Given the description of an element on the screen output the (x, y) to click on. 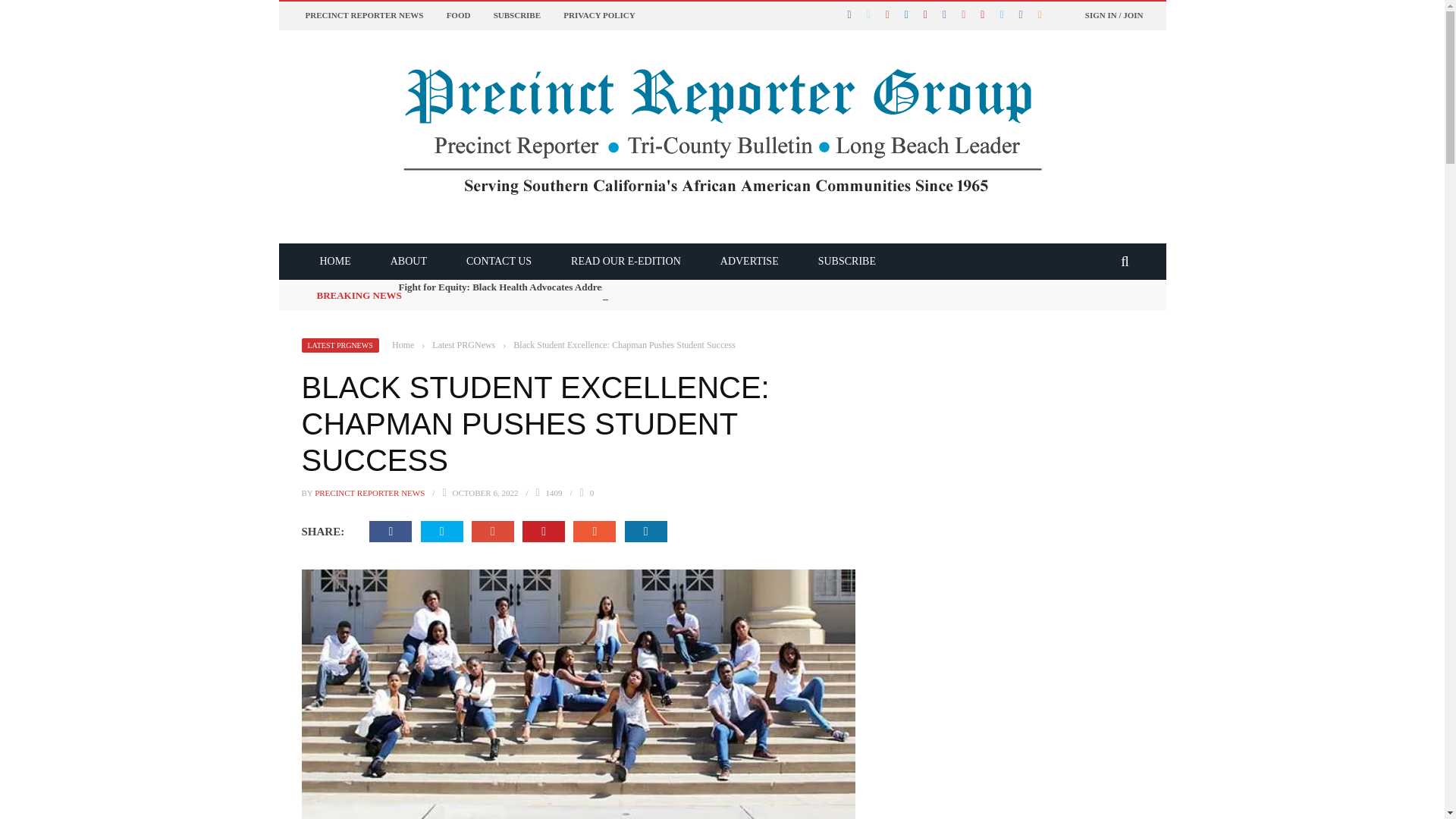
PRIVACY POLICY (598, 14)
SUBSCRIBE (516, 14)
HOME (335, 260)
CONTACT US (499, 260)
Latest PRGNews (463, 344)
Home (402, 344)
LATEST PRGNEWS (339, 345)
SUBSCRIBE (846, 260)
READ OUR E-EDITION (625, 260)
ADVERTISE (748, 260)
